Given the description of an element on the screen output the (x, y) to click on. 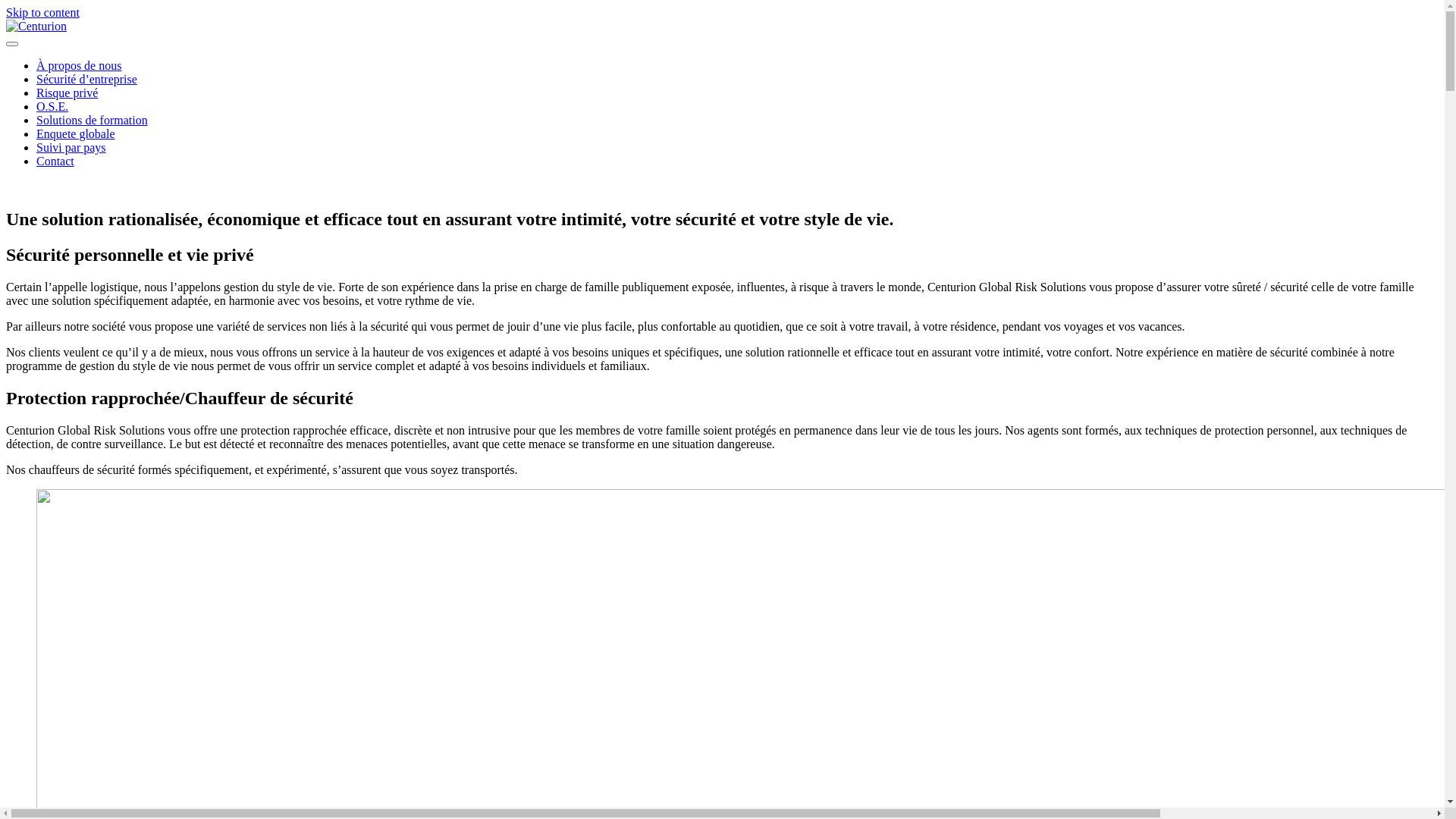
Enquete globale Element type: text (75, 133)
O.S.E. Element type: text (52, 106)
Skip to content Element type: text (42, 12)
Suivi par pays Element type: text (71, 147)
Solutions de formation Element type: text (91, 119)
Contact Element type: text (55, 160)
